Given the description of an element on the screen output the (x, y) to click on. 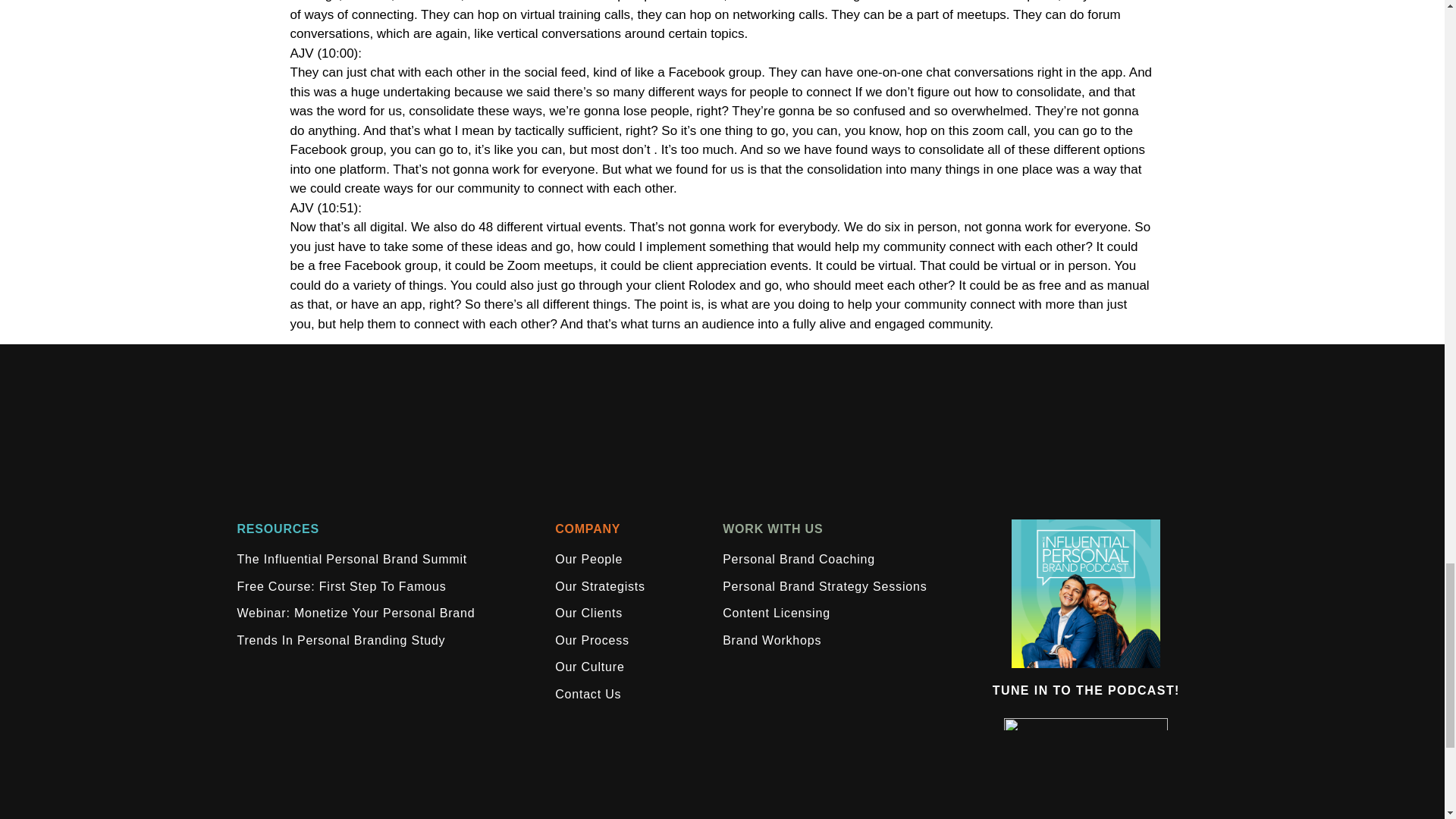
Webinar: Monetize Your Personal Brand (354, 613)
Trends In Personal Branding Study (340, 640)
Our People (588, 559)
Personal Brand Coaching (798, 559)
Free Course: First Step To Famous (340, 586)
WORK WITH US (772, 529)
Our Clients (588, 613)
Our Strategists (599, 586)
Our Process (591, 640)
Personal Brand Strategy Sessions (824, 586)
